Given the description of an element on the screen output the (x, y) to click on. 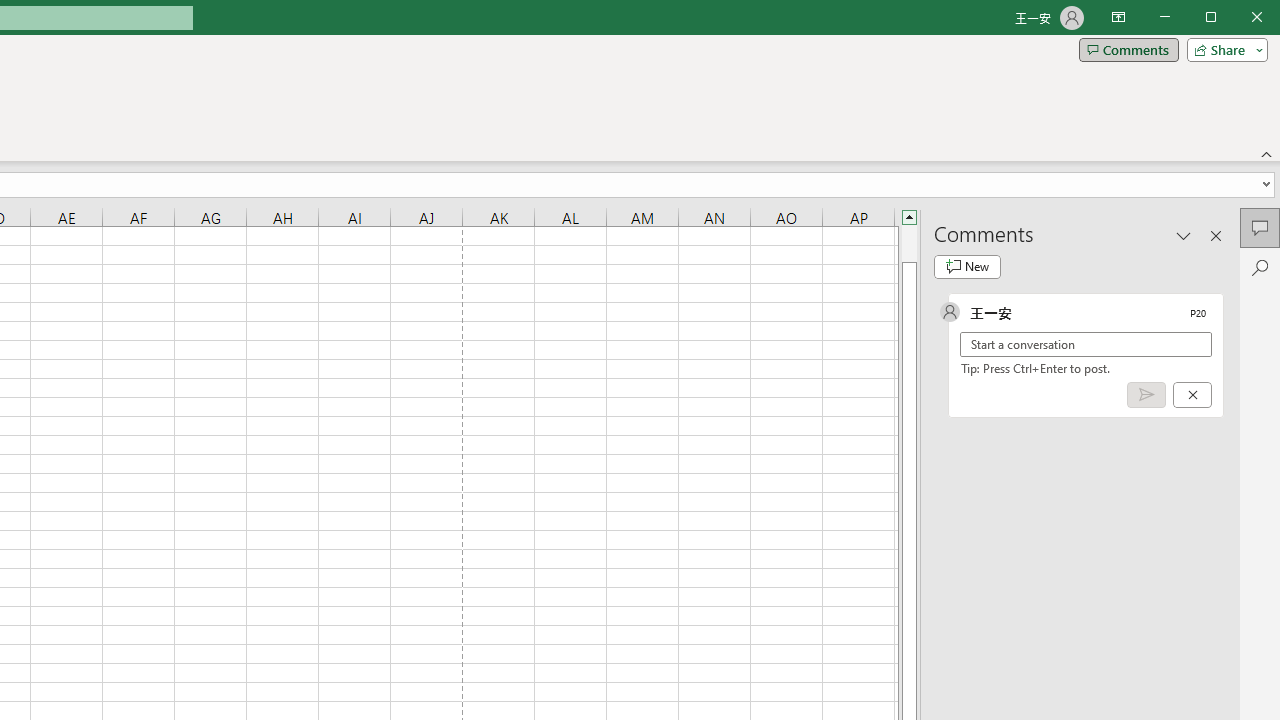
Page up (909, 243)
Post comment (Ctrl + Enter) (1146, 395)
Start a conversation (1085, 344)
Task Pane Options (1183, 235)
New comment (967, 266)
Maximize (1239, 18)
Cancel (1192, 395)
Close pane (1215, 235)
